Given the description of an element on the screen output the (x, y) to click on. 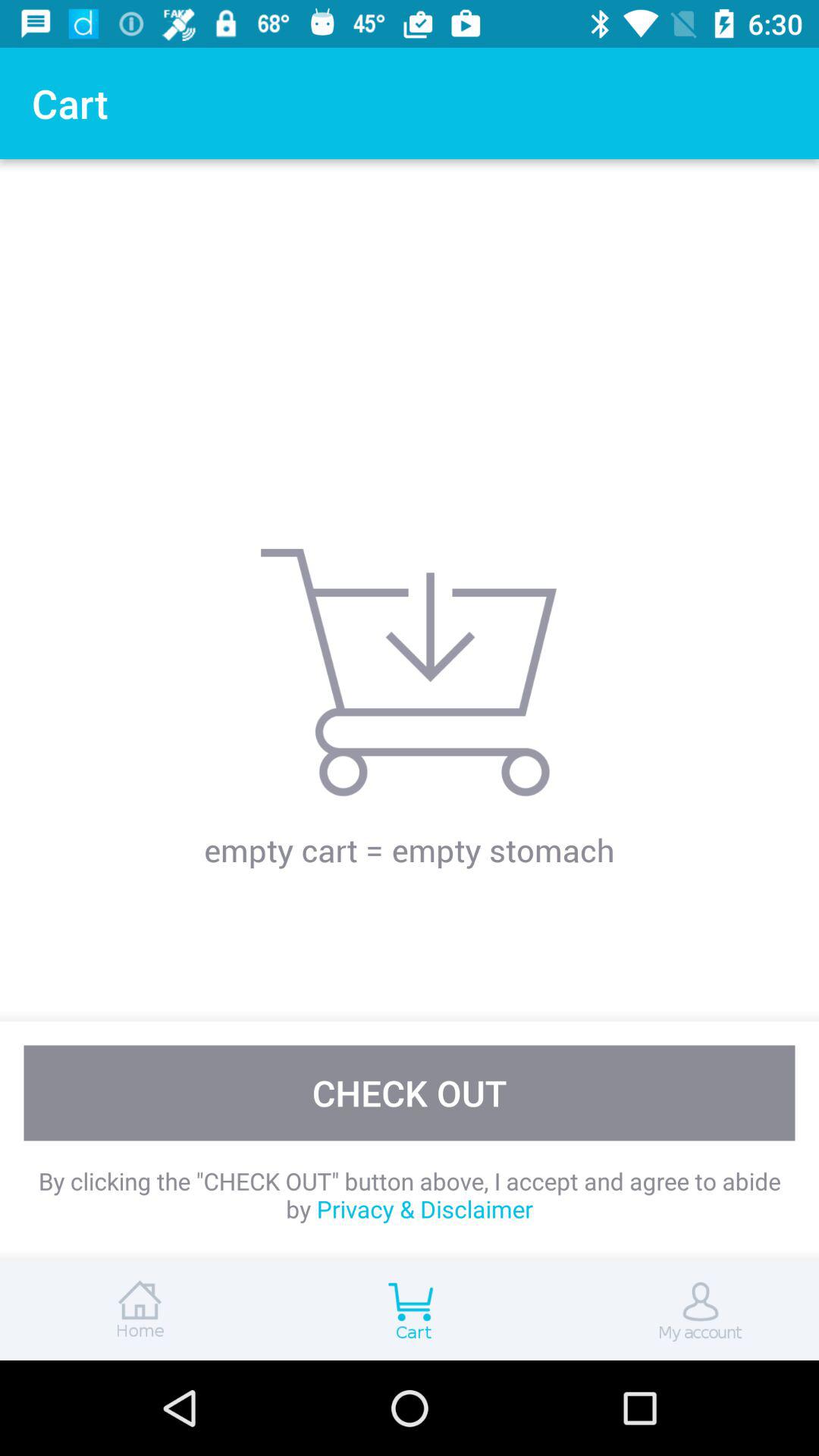
jump to the by clicking the icon (409, 1194)
